Given the description of an element on the screen output the (x, y) to click on. 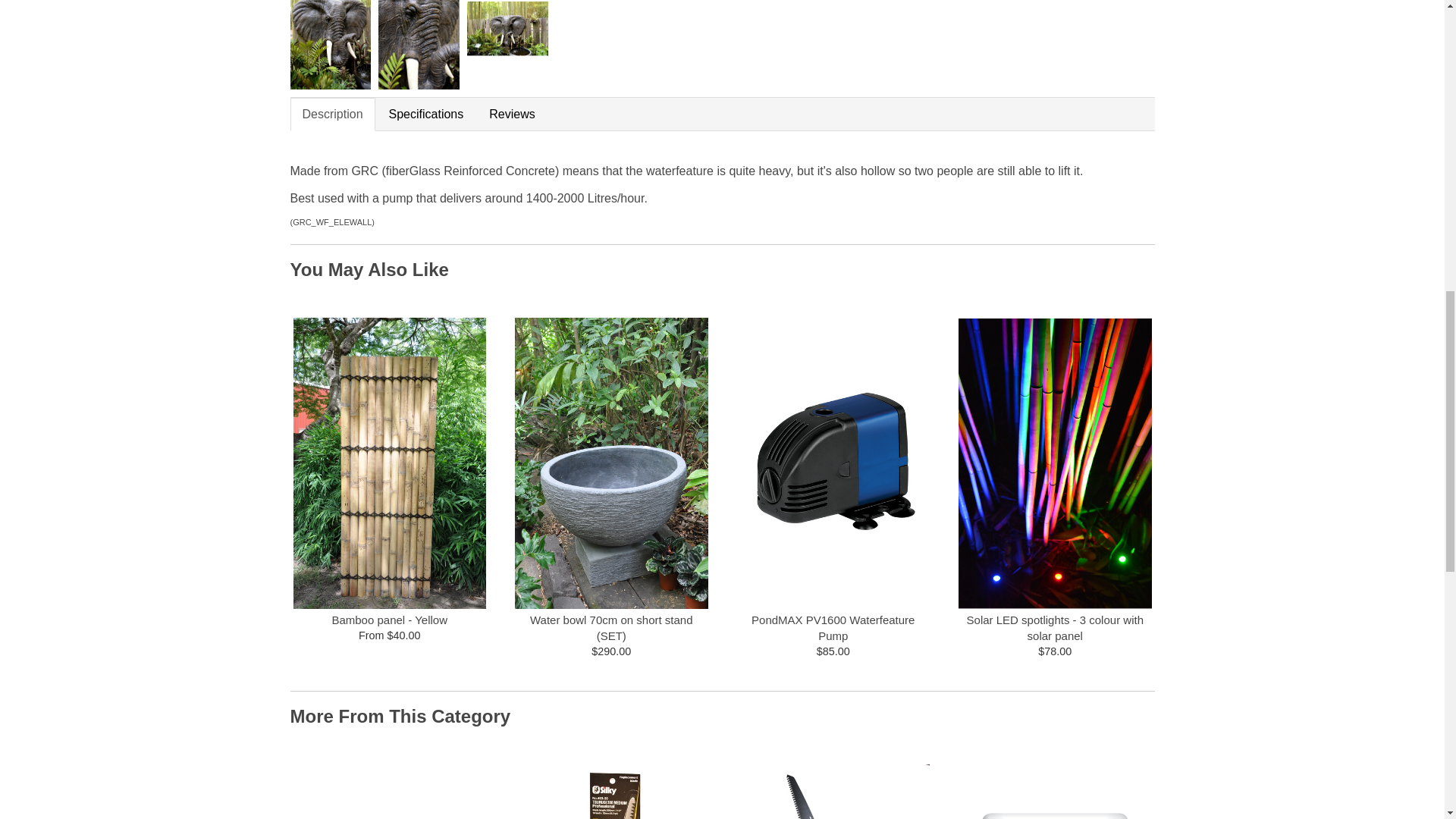
Large View (419, 44)
Large View (330, 44)
Bamboo panel - Yellow (389, 619)
Large View (507, 44)
PondMAX PV1600 Waterfeature Pump (833, 627)
Solar LED spotlights - 3 colour with solar panel (1054, 627)
